Given the description of an element on the screen output the (x, y) to click on. 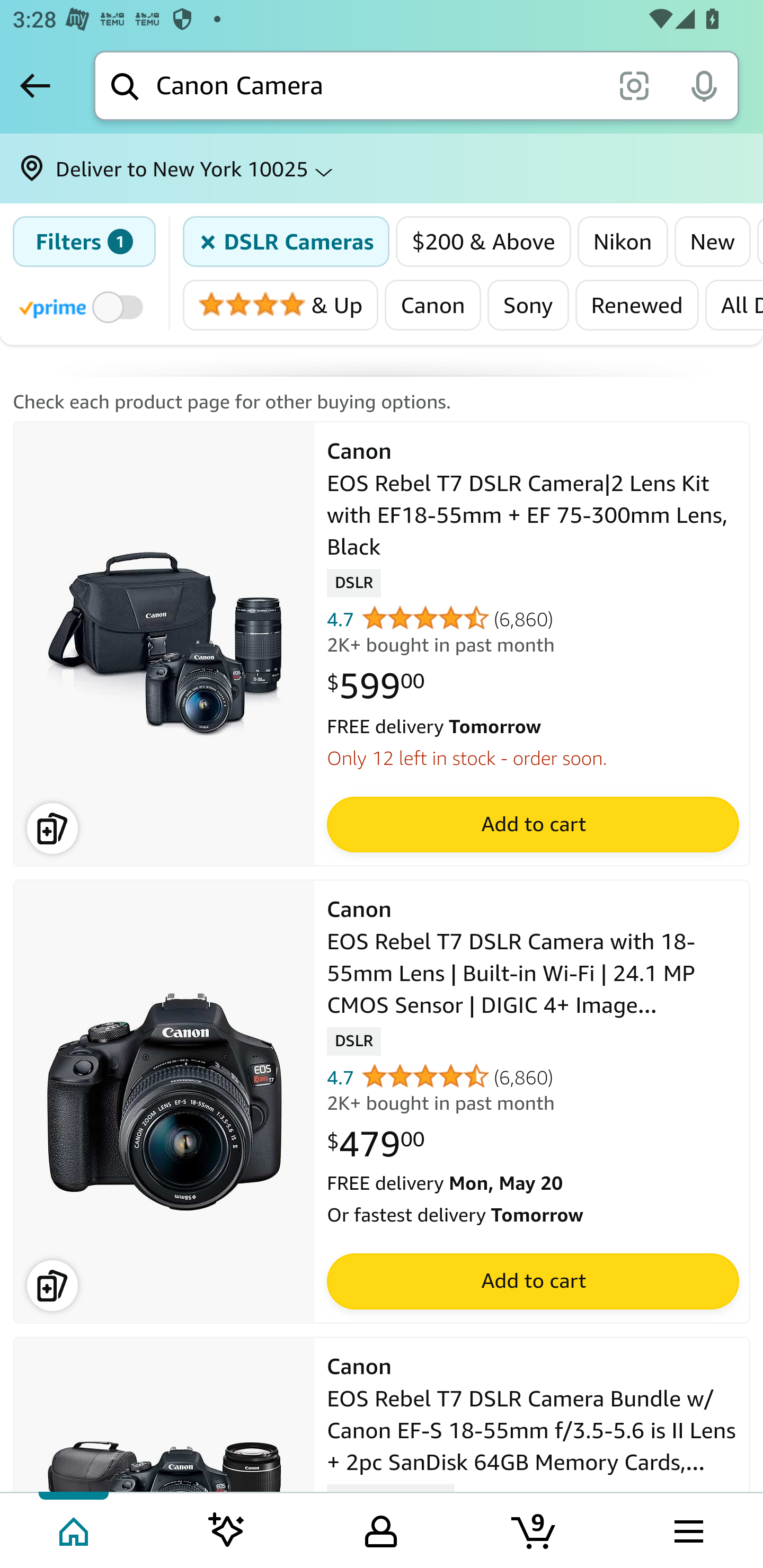
Back (35, 85)
scan it (633, 85)
Deliver to New York 10025 ⌵ (381, 168)
Filters 1 (83, 241)
× DSLR Cameras × DSLR Cameras (286, 241)
$200 & Above (483, 241)
Nikon (622, 241)
New (712, 241)
Toggle to filter by Prime products Prime Eligible (83, 306)
4 Stars & Up (281, 304)
Canon (432, 304)
Sony (527, 304)
Renewed (636, 304)
Add to cart (532, 824)
Add to cart (532, 1281)
Home Tab 1 of 5 (75, 1529)
Inspire feed Tab 2 of 5 (227, 1529)
Your Amazon.com Tab 3 of 5 (380, 1529)
Cart 9 items Tab 4 of 5 9 (534, 1529)
Browse menu Tab 5 of 5 (687, 1529)
